Given the description of an element on the screen output the (x, y) to click on. 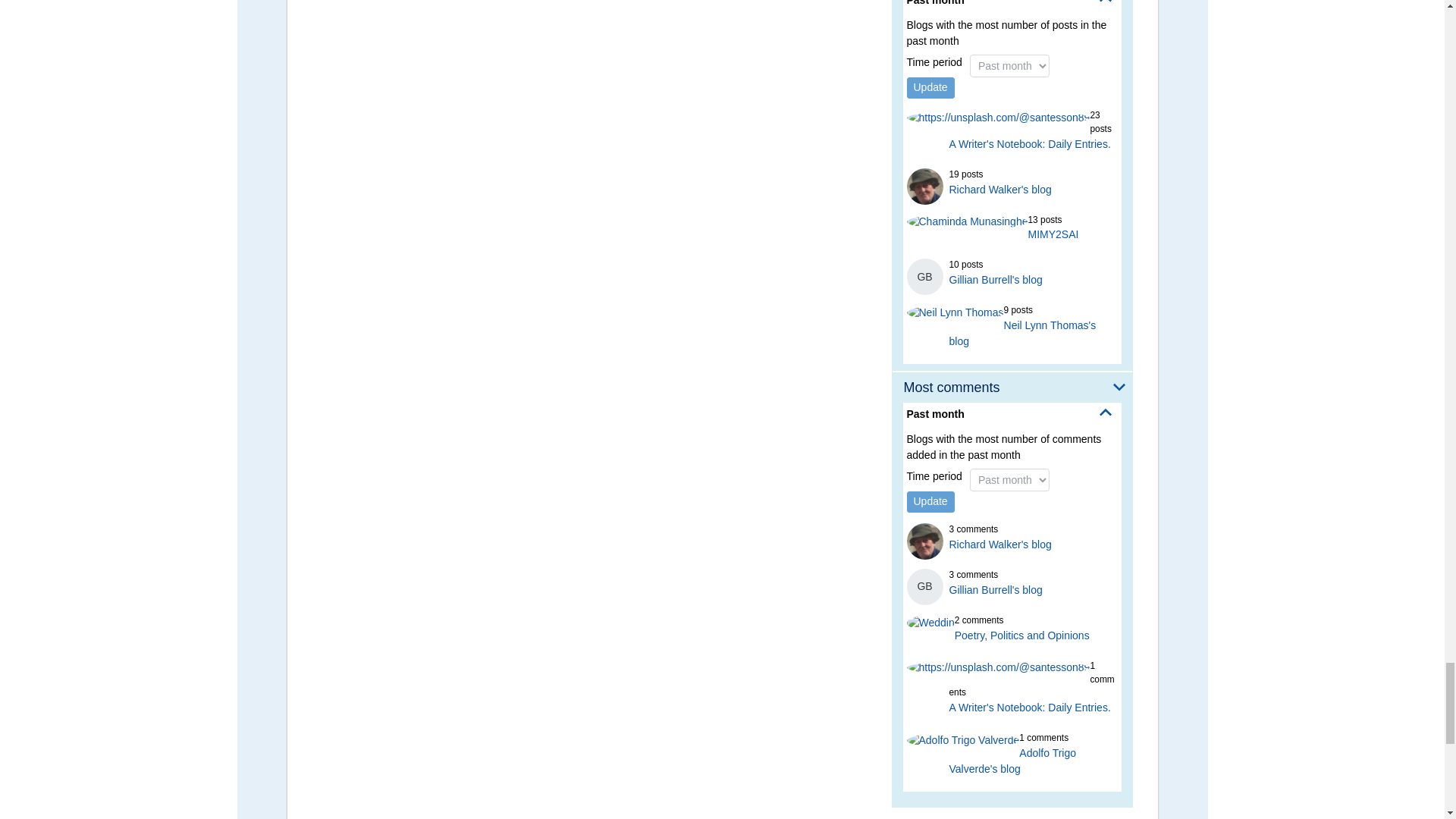
Update (931, 501)
Update (931, 87)
